Given the description of an element on the screen output the (x, y) to click on. 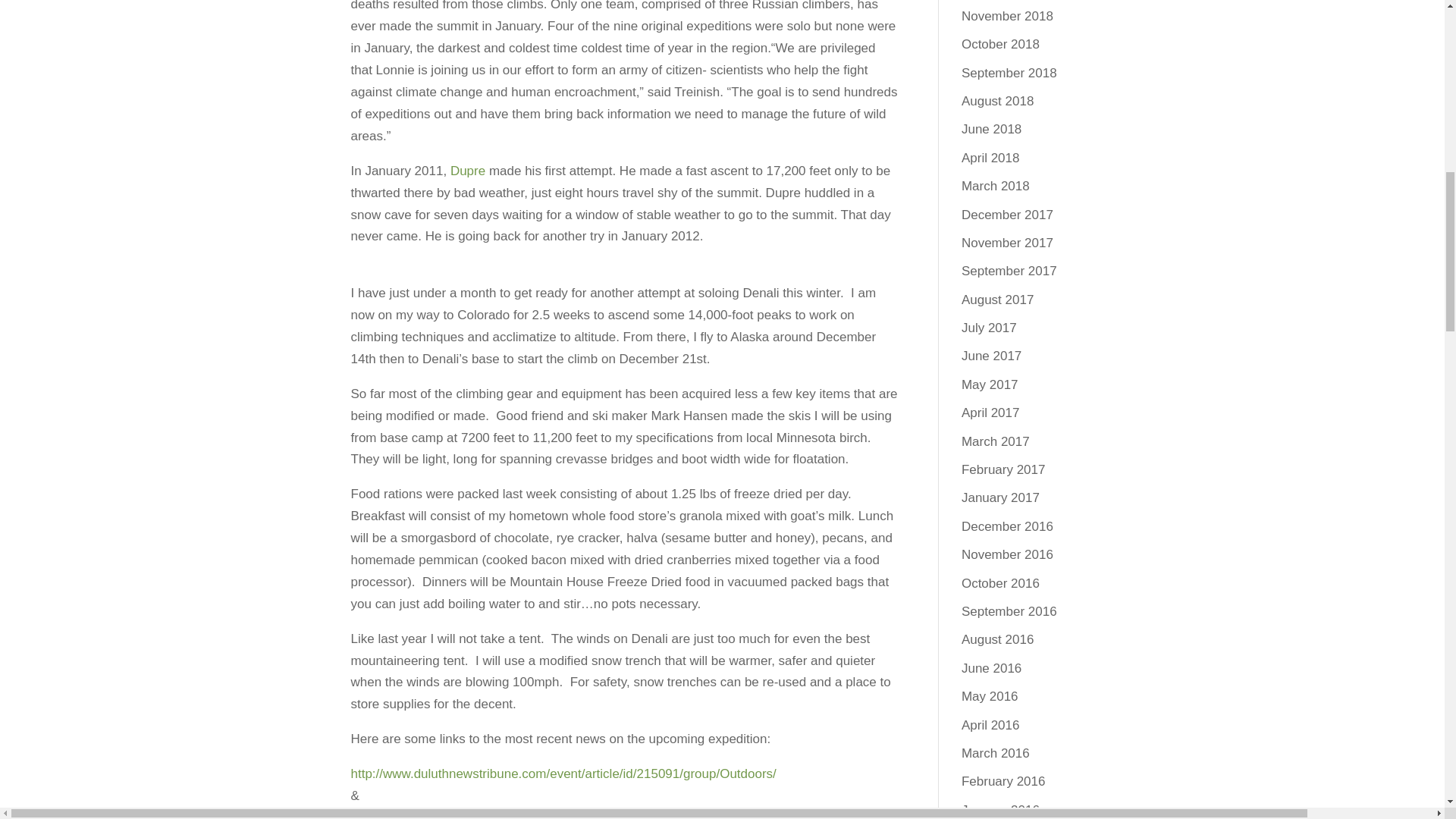
Dupre (469, 170)
